Given the description of an element on the screen output the (x, y) to click on. 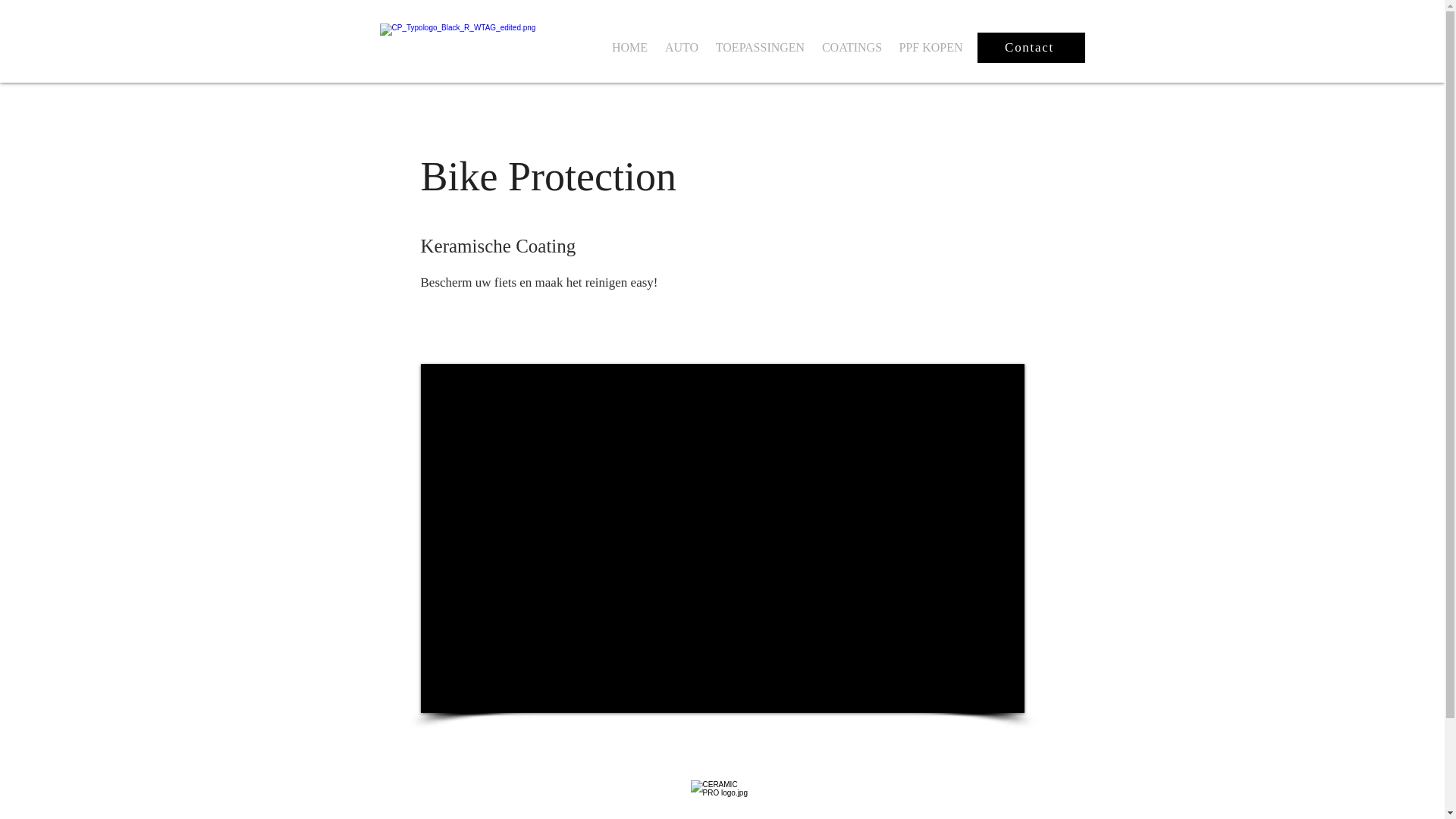
TOEPASSINGEN Element type: text (759, 47)
HOME Element type: text (629, 47)
AUTO Element type: text (681, 47)
Contact Element type: text (1030, 47)
External YouTube Element type: hover (721, 538)
COATINGS Element type: text (851, 47)
PPF KOPEN Element type: text (930, 47)
